Given the description of an element on the screen output the (x, y) to click on. 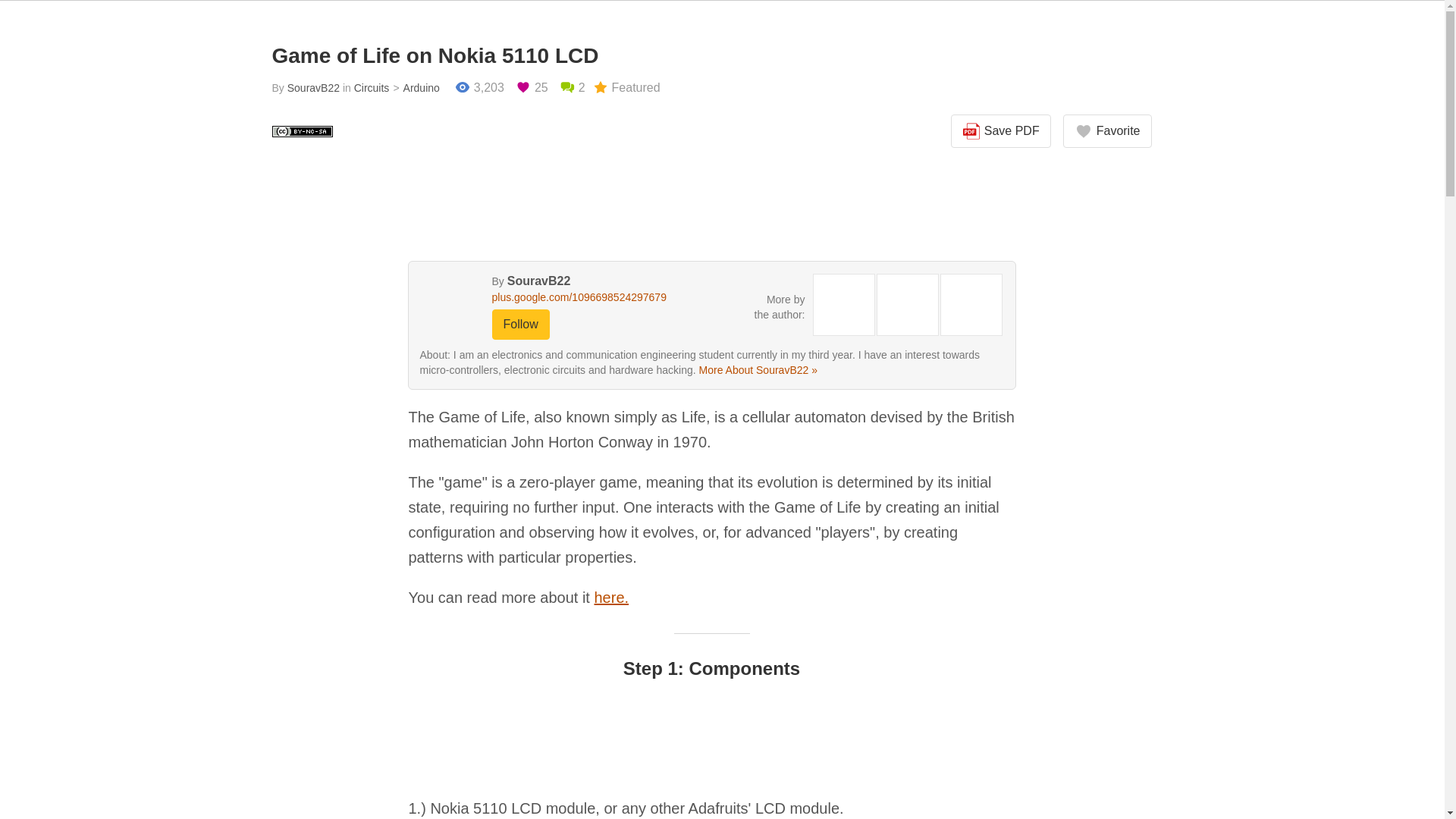
Follow (520, 324)
Favorite (1106, 131)
Arduino (413, 87)
SouravB22 (538, 280)
SouravB22 (312, 87)
Circuits (371, 87)
here. (611, 597)
2 (572, 87)
Save PDF (1000, 131)
